Given the description of an element on the screen output the (x, y) to click on. 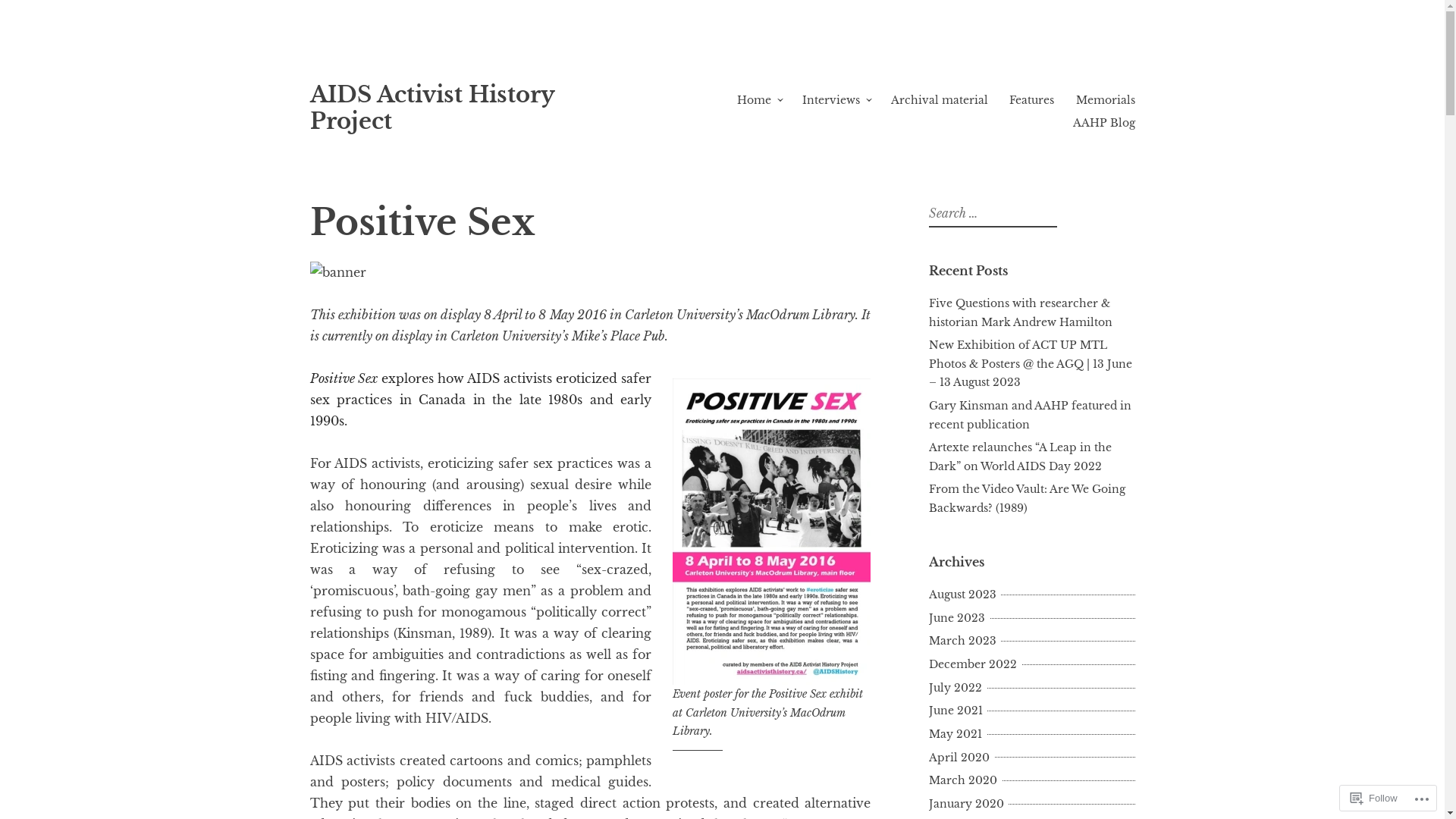
Features Element type: text (1031, 99)
From the Video Vault: Are We Going Backwards? (1989) Element type: text (1026, 498)
March 2023 Element type: text (964, 640)
Interviews Element type: text (830, 99)
AIDS Activist History Project Element type: text (431, 107)
Archival material Element type: text (938, 99)
AAHP Blog Element type: text (1103, 122)
March 2020 Element type: text (964, 780)
Gary Kinsman and AAHP featured in recent publication Element type: text (1029, 414)
Follow Element type: text (1373, 797)
Home Element type: text (754, 99)
June 2021 Element type: text (957, 710)
January 2020 Element type: text (967, 803)
Search Element type: text (21, 13)
April 2020 Element type: text (960, 757)
December 2022 Element type: text (974, 664)
July 2022 Element type: text (956, 687)
June 2023 Element type: text (958, 617)
May 2021 Element type: text (956, 733)
Memorials Element type: text (1104, 99)
August 2023 Element type: text (964, 594)
